Given the description of an element on the screen output the (x, y) to click on. 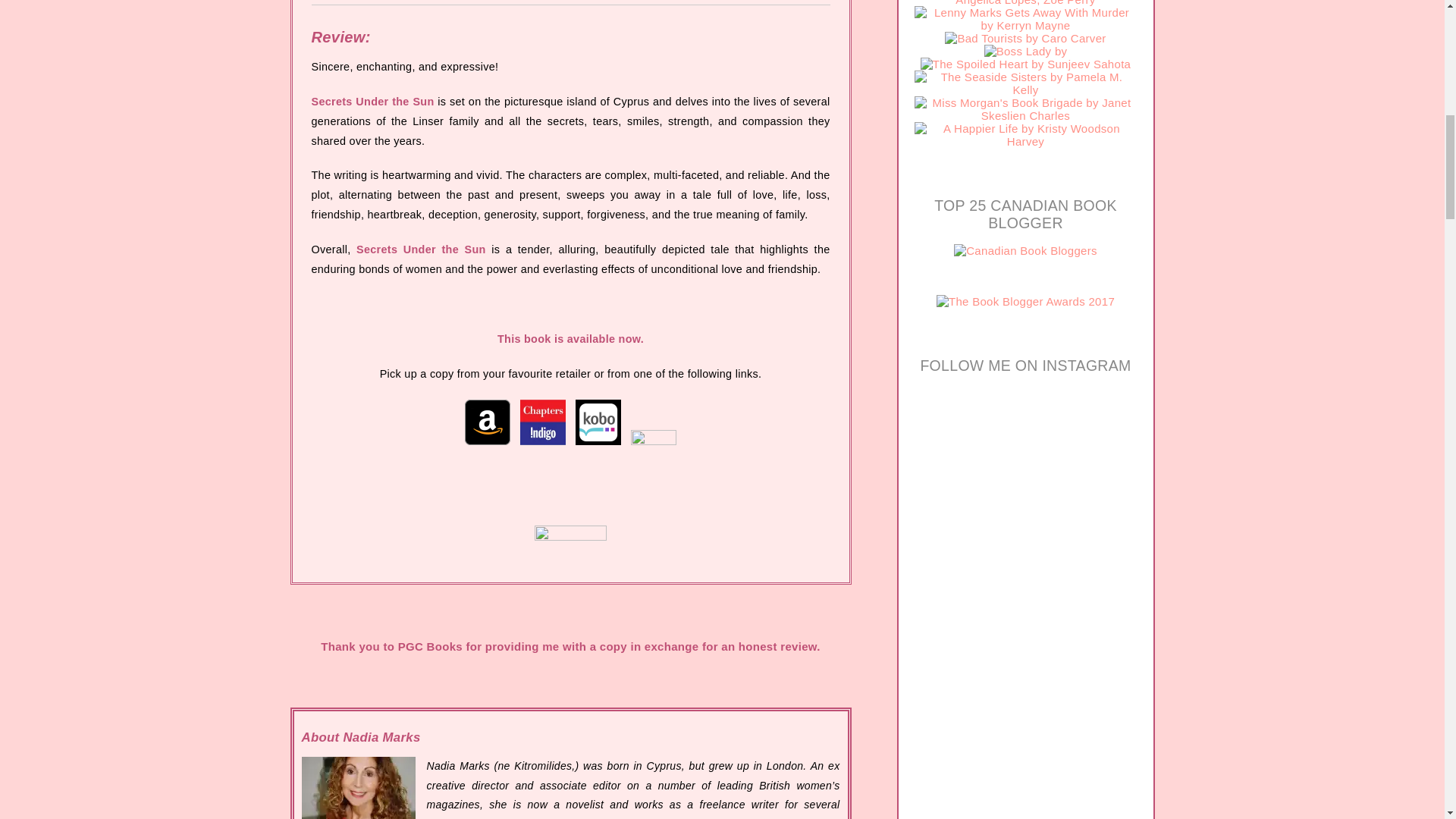
Canadian Book Bloggers (1025, 250)
